Given the description of an element on the screen output the (x, y) to click on. 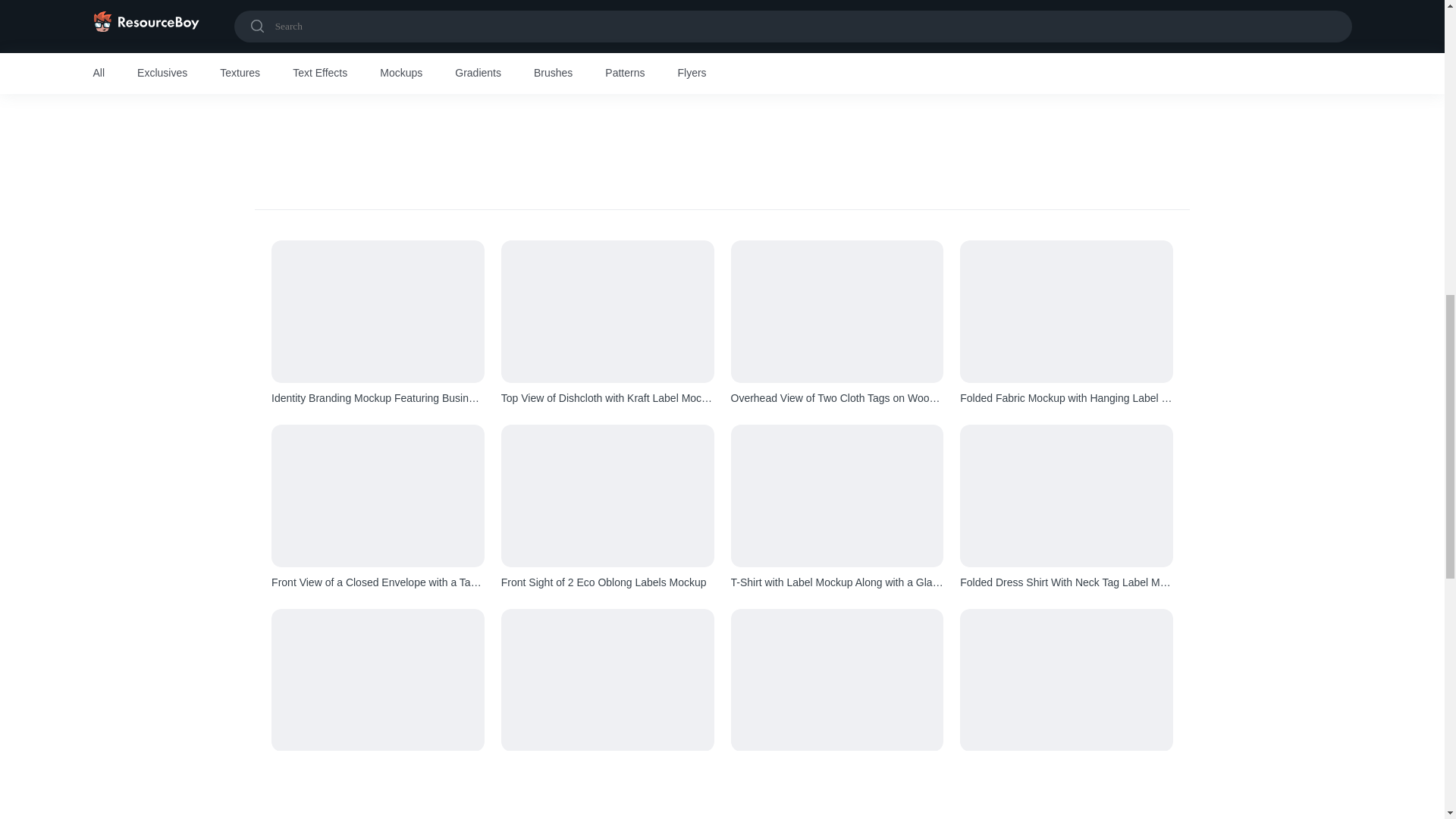
Overhead View of Two Cloth Tags on Wooden Surface Mockup (836, 398)
Top View of Dishcloth with Kraft Label Mockup (607, 398)
